Given the description of an element on the screen output the (x, y) to click on. 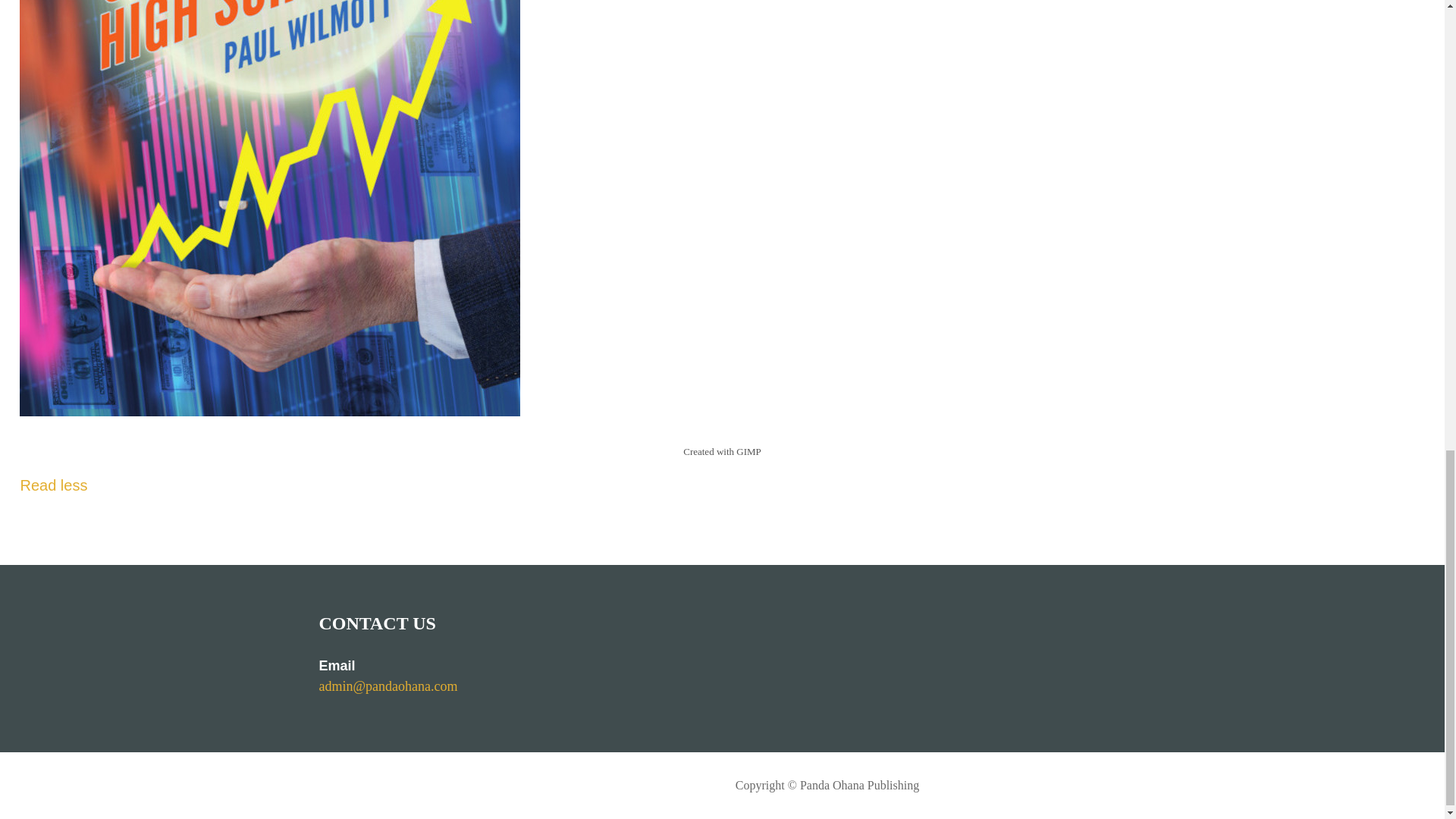
Read less (53, 484)
